Given the description of an element on the screen output the (x, y) to click on. 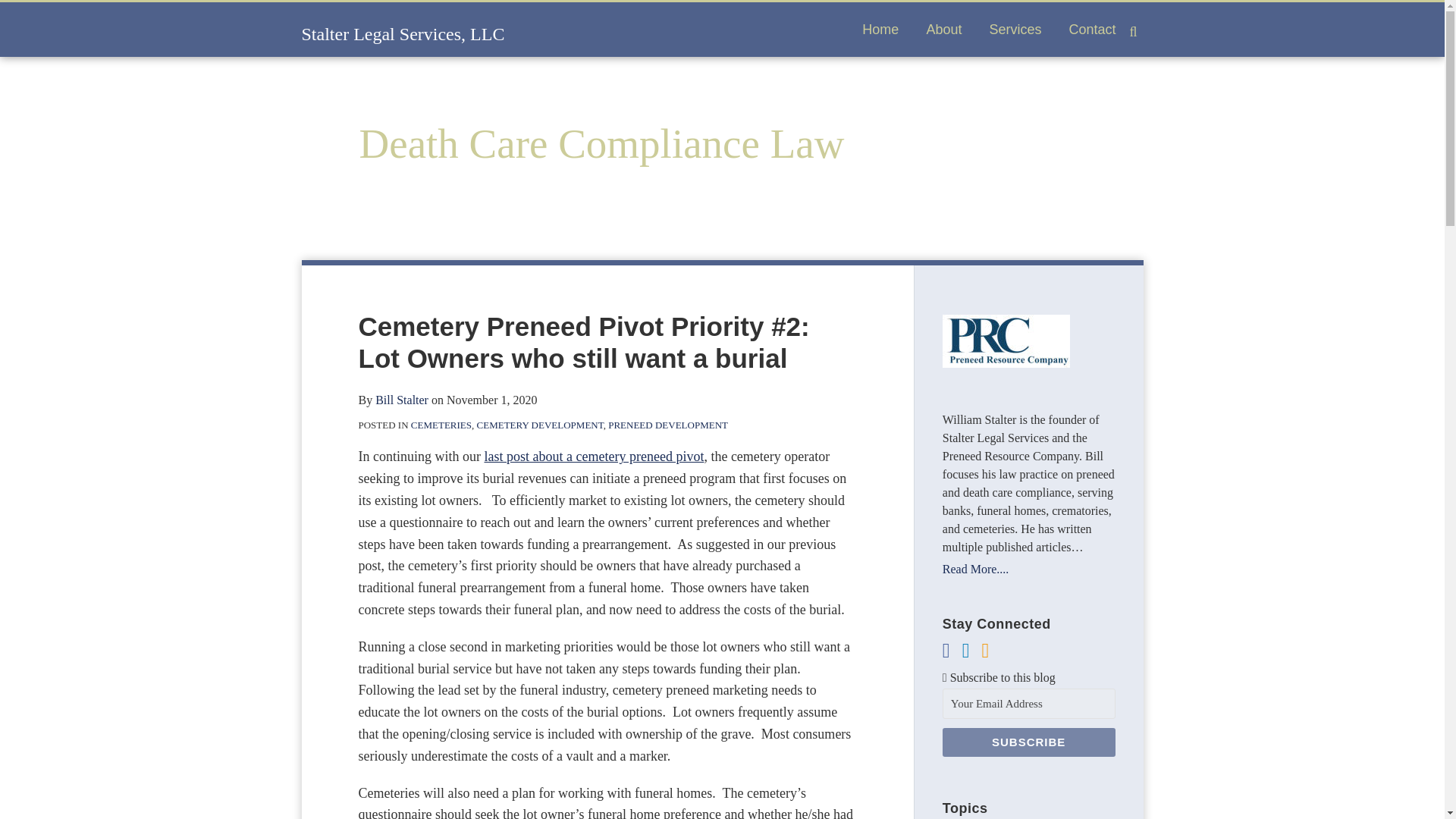
Stalter Legal Services, LLC (403, 34)
Subscribe (1028, 742)
Read More.... (1028, 569)
Services (1014, 29)
PRENEED DEVELOPMENT (668, 424)
Bill Stalter (401, 399)
last post about a cemetery preneed pivot (593, 456)
Contact (1091, 29)
Home (879, 29)
CEMETERIES (440, 424)
Subscribe (1028, 742)
CEMETERY DEVELOPMENT (540, 424)
Death Care Compliance Law (601, 143)
About (943, 29)
